Given the description of an element on the screen output the (x, y) to click on. 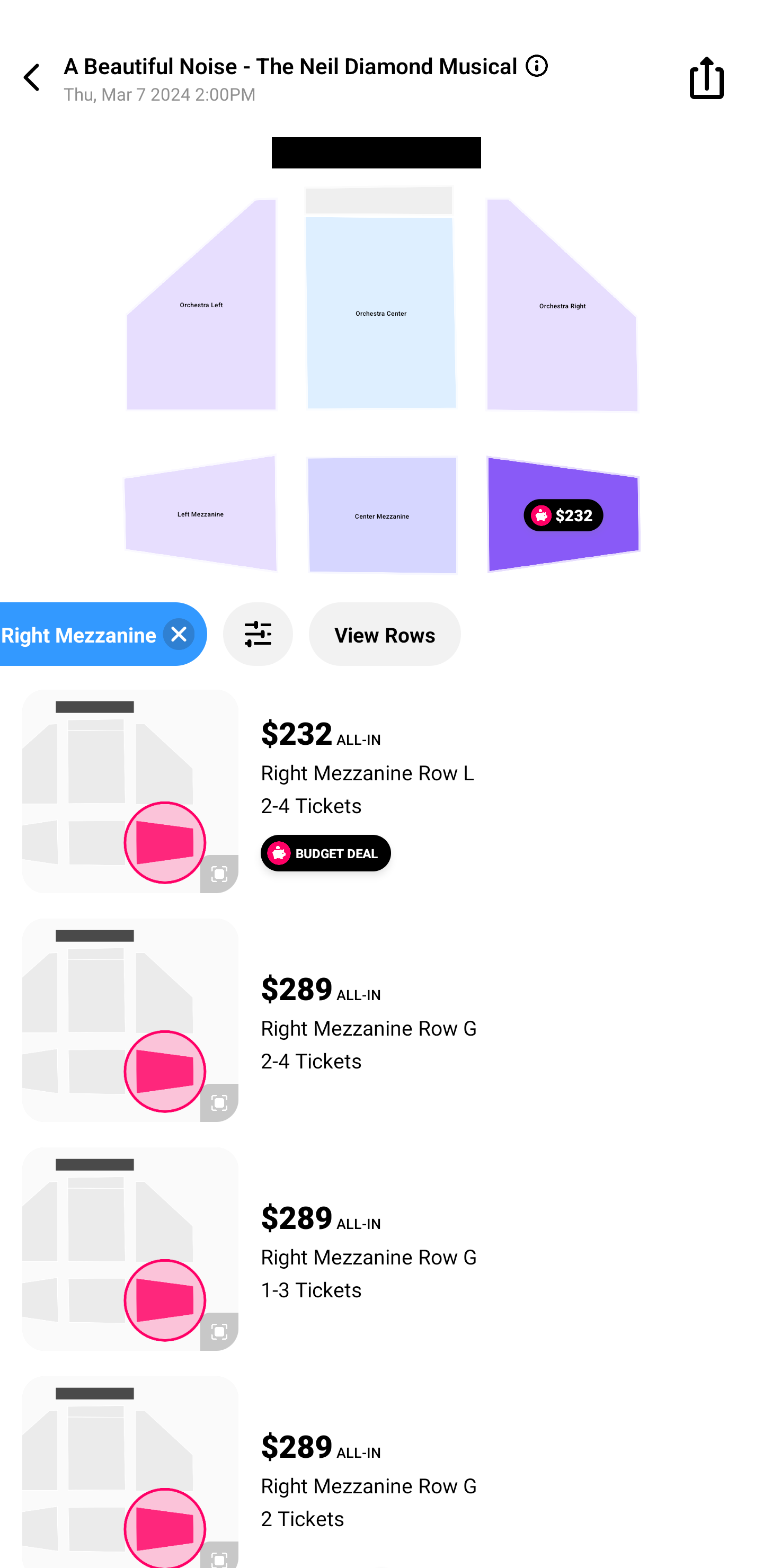
Section Right Mezzanine (103, 634)
View Rows (384, 634)
BUDGET DEAL (325, 852)
